Given the description of an element on the screen output the (x, y) to click on. 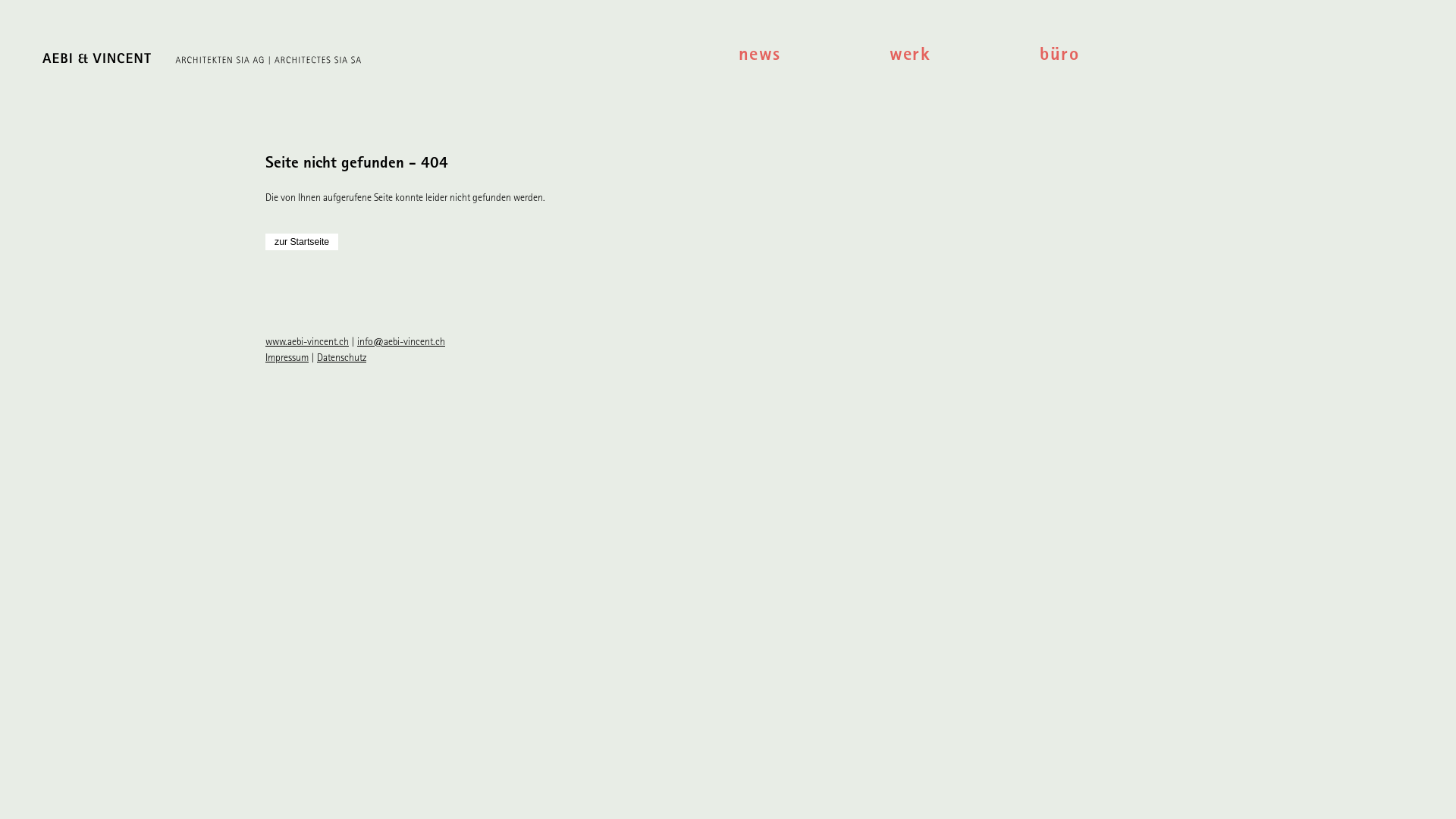
www.aebi-vincent.ch Element type: text (306, 342)
Impressum Element type: text (286, 358)
werk Element type: text (964, 56)
hc.tnecniv-ibea@ofni Element type: text (401, 342)
zur Startseite Element type: text (301, 241)
news Element type: text (813, 56)
Logo: Aebi & Vincent Architekten SIA AG (Schriftzug) Element type: text (373, 61)
Datenschutz Element type: text (341, 358)
